Given the description of an element on the screen output the (x, y) to click on. 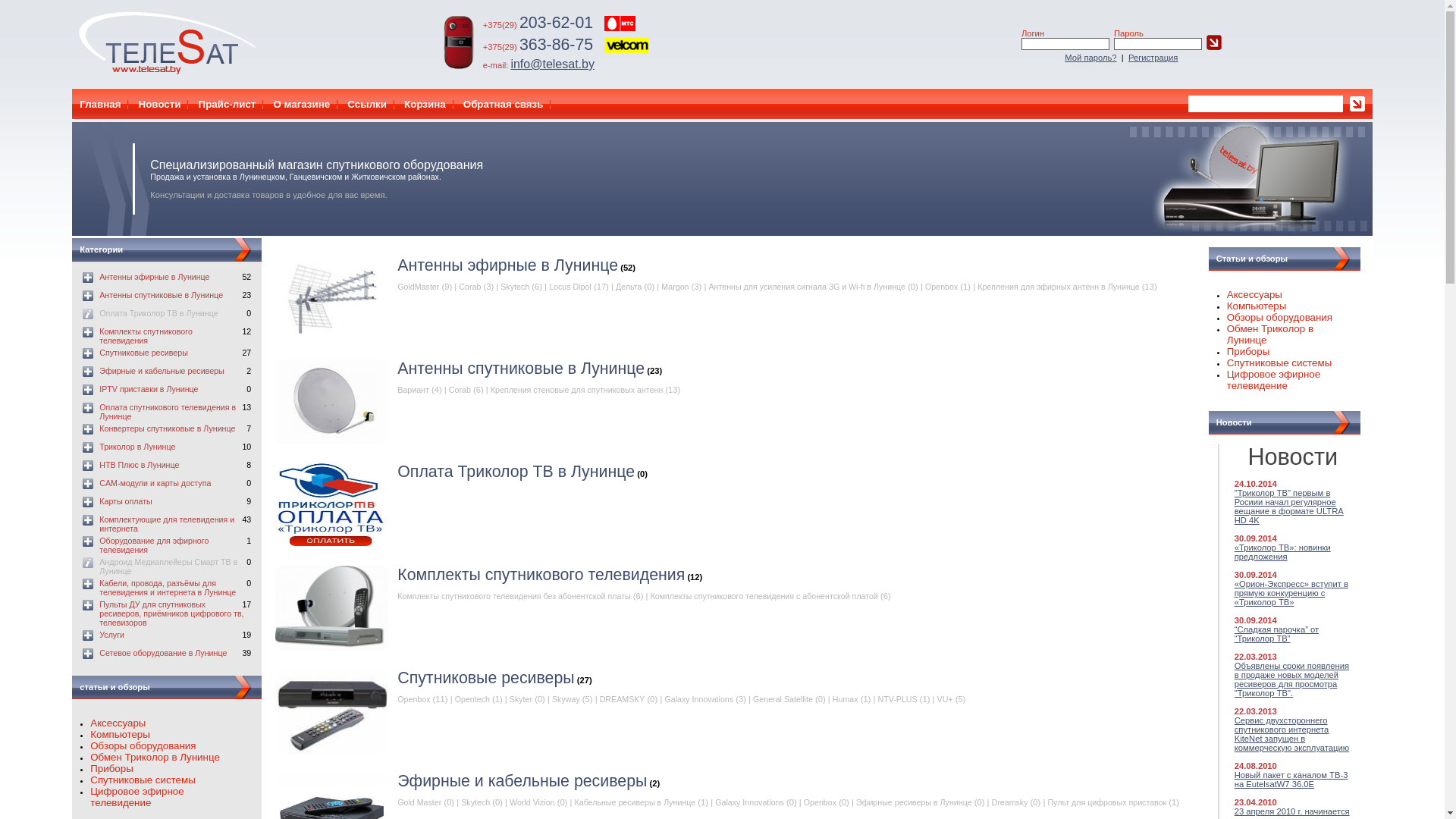
  Element type: text (331, 607)
  Element type: text (331, 401)
NTV-PLUS Element type: text (897, 698)
Openbox Element type: text (819, 801)
Dreamsky Element type: text (1009, 801)
World Vizion Element type: text (531, 801)
info@telesat.by Element type: text (552, 63)
Humax Element type: text (845, 698)
Openbox Element type: text (941, 286)
Locus Dipol Element type: text (570, 286)
  Element type: text (331, 504)
Opentech Element type: text (472, 698)
Corab Element type: text (459, 389)
GoldMaster Element type: text (418, 286)
Openbox Element type: text (413, 698)
Galaxy Innovations Element type: text (749, 801)
Gold Master Element type: text (419, 801)
Skytech Element type: text (475, 801)
  Element type: text (331, 298)
Margon Element type: text (674, 286)
  Element type: text (331, 710)
DREAMSKY Element type: text (622, 698)
VU+ Element type: text (945, 698)
Galaxy Innovations Element type: text (698, 698)
Corab Element type: text (469, 286)
Skytech Element type: text (514, 286)
Skyway Element type: text (566, 698)
General Satellite Element type: text (782, 698)
Skyter Element type: text (520, 698)
